Given the description of an element on the screen output the (x, y) to click on. 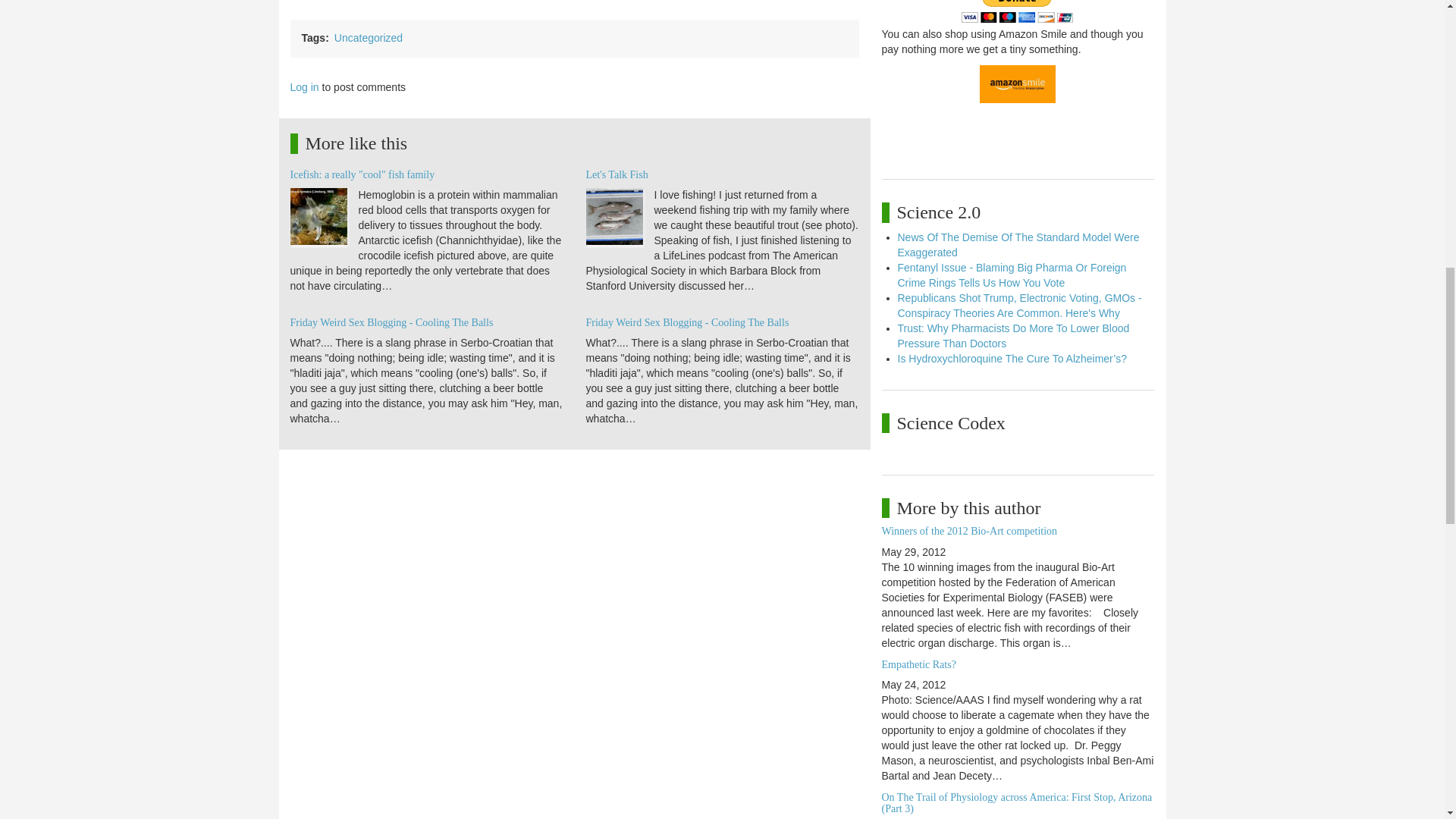
Icefish: a really "cool" fish family (361, 174)
Let's Talk Fish (616, 174)
Winners of the 2012 Bio-Art competition (968, 531)
PayPal - The safer, easier way to pay online! (1016, 11)
Log in (303, 87)
News Of The Demise Of The Standard Model Were Exaggerated (1019, 244)
Friday Weird Sex Blogging - Cooling The Balls (391, 322)
Friday Weird Sex Blogging - Cooling The Balls (687, 322)
Uncategorized (368, 37)
